Given the description of an element on the screen output the (x, y) to click on. 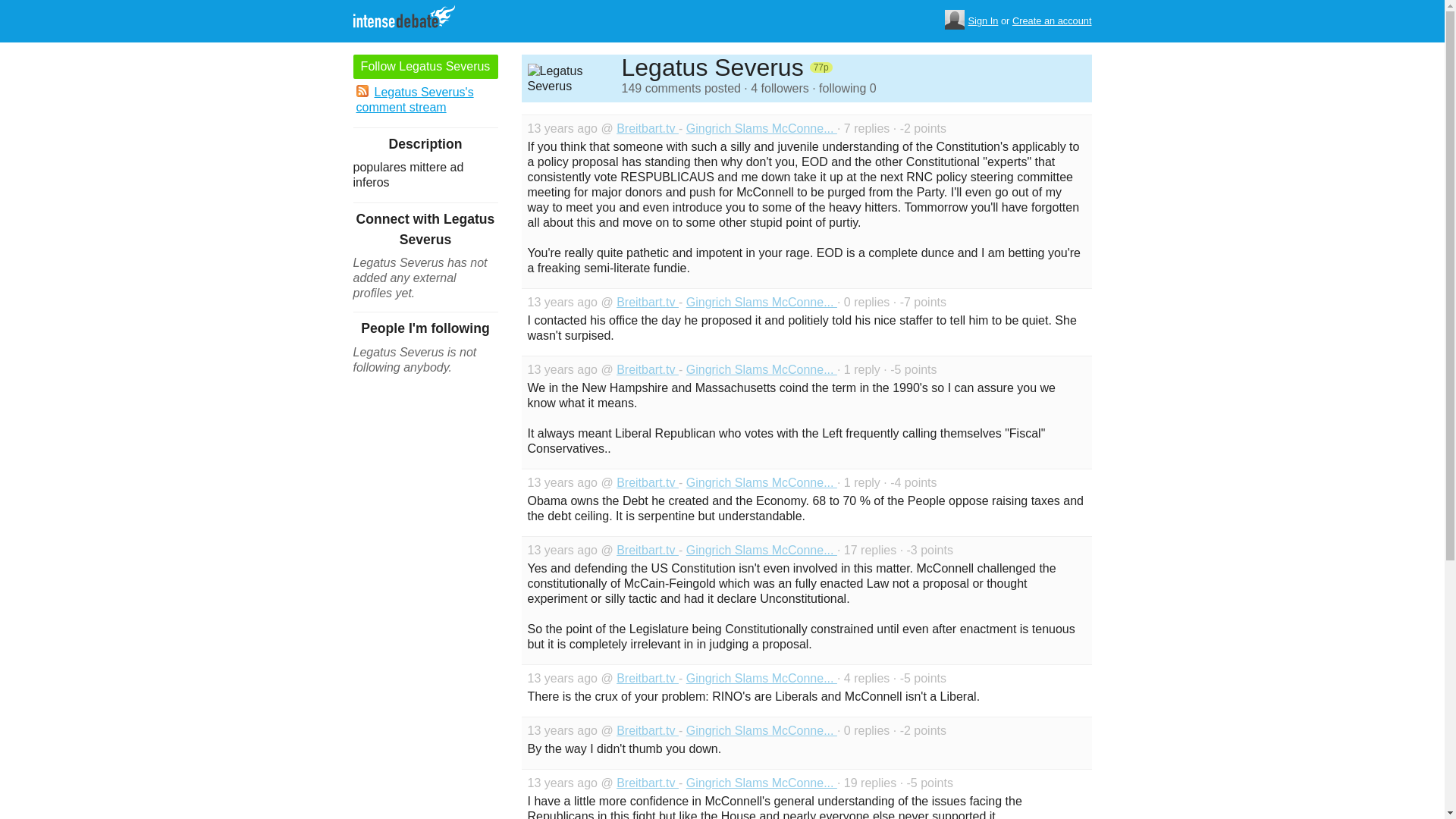
Follow Legatus Severus (425, 66)
Breitbart.tv (646, 301)
Gingrich Slams McConne... (761, 369)
Breitbart.tv (646, 677)
Create an account (1051, 21)
Gingrich Slams McConne... (761, 549)
Gingrich Slams McConne... (761, 782)
Breitbart.tv (646, 128)
Breitbart.tv (646, 481)
